Given the description of an element on the screen output the (x, y) to click on. 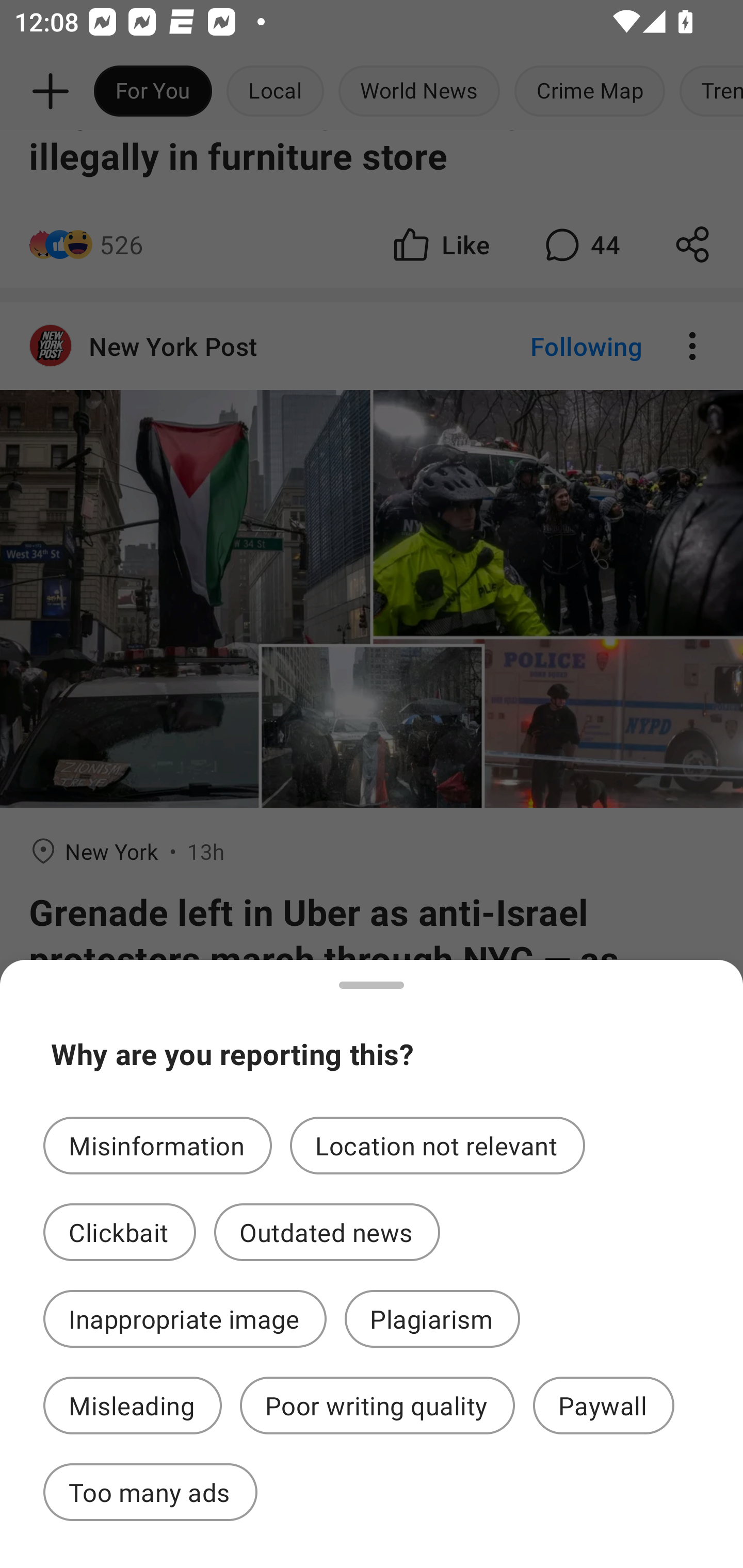
Misinformation (157, 1145)
Location not relevant (437, 1145)
Clickbait (119, 1231)
Outdated news (326, 1231)
Inappropriate image (184, 1319)
Plagiarism (432, 1319)
Misleading (132, 1405)
Poor writing quality (376, 1405)
Paywall (603, 1405)
Too many ads (150, 1491)
